Given the description of an element on the screen output the (x, y) to click on. 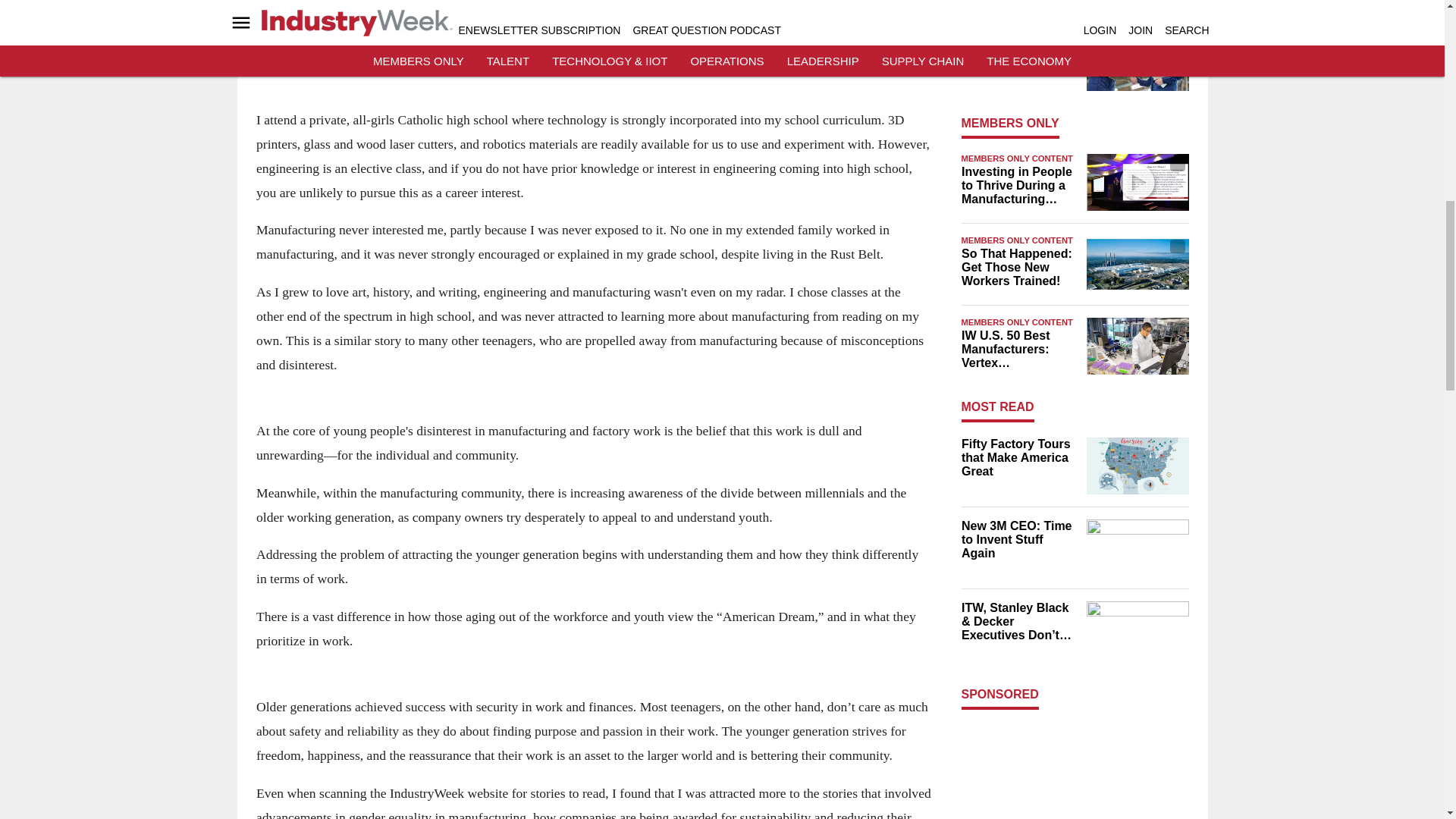
Phil Powell, Indiana University (1137, 181)
